Given the description of an element on the screen output the (x, y) to click on. 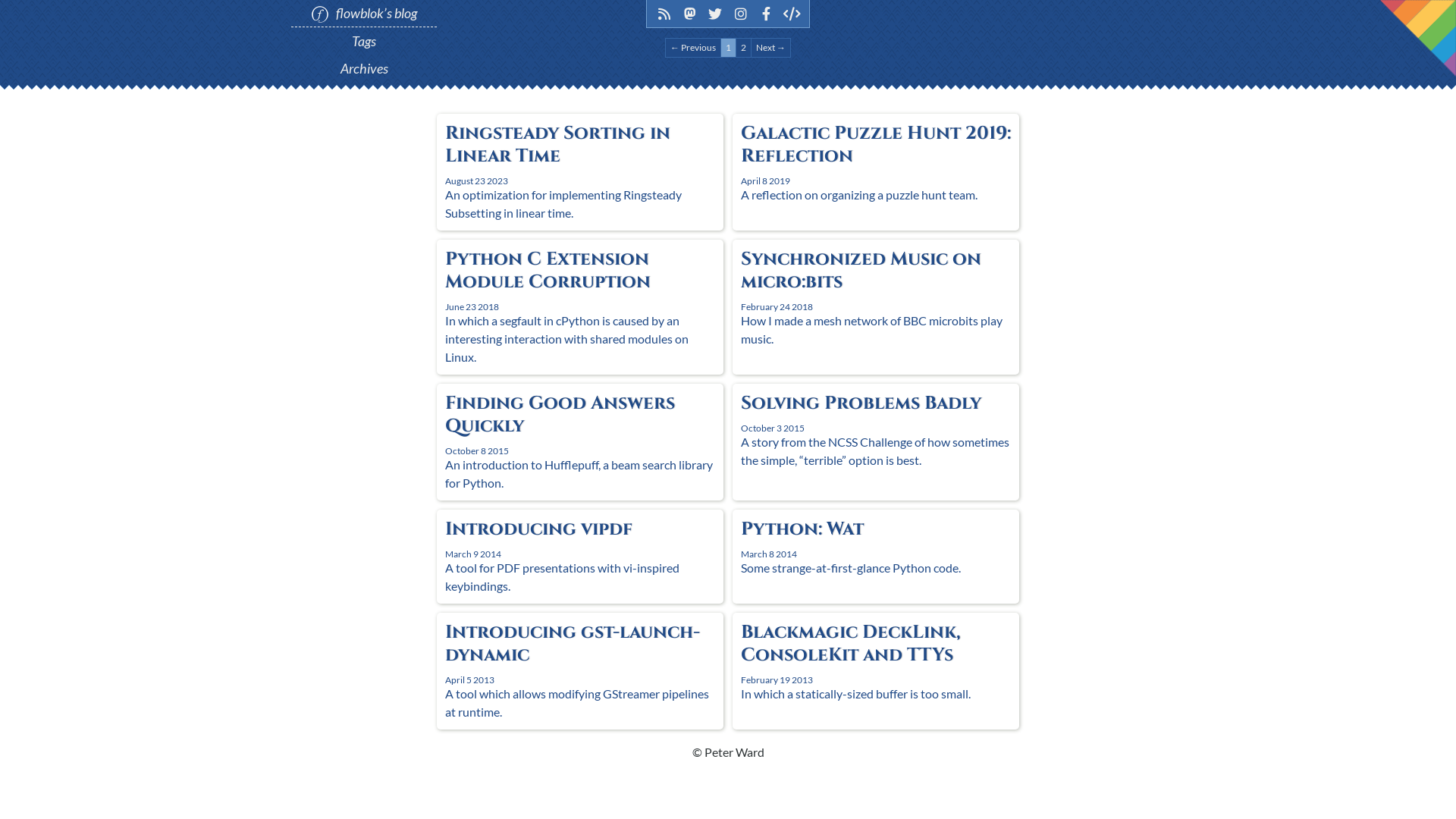
facebook Element type: text (766, 13)
atom feed Element type: text (664, 13)
Tags Element type: text (363, 40)
Archives Element type: text (363, 67)
code Element type: text (791, 13)
instagram Element type: text (740, 13)
mastodon Element type: text (689, 13)
twitter Element type: text (715, 13)
2 Element type: text (743, 47)
